Given the description of an element on the screen output the (x, y) to click on. 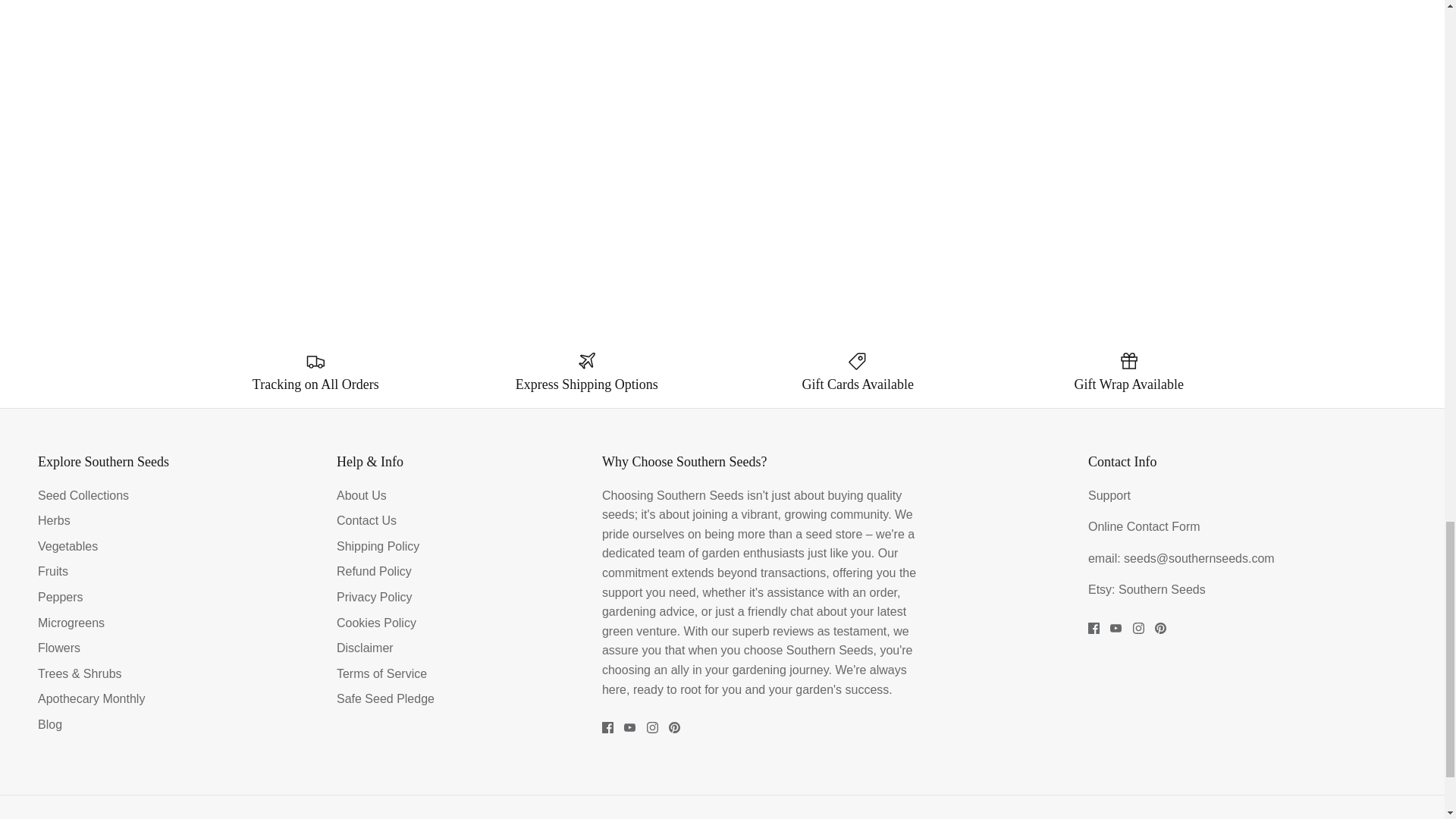
Contact Us (1162, 526)
Facebook (607, 727)
Youtube (629, 727)
